Given the description of an element on the screen output the (x, y) to click on. 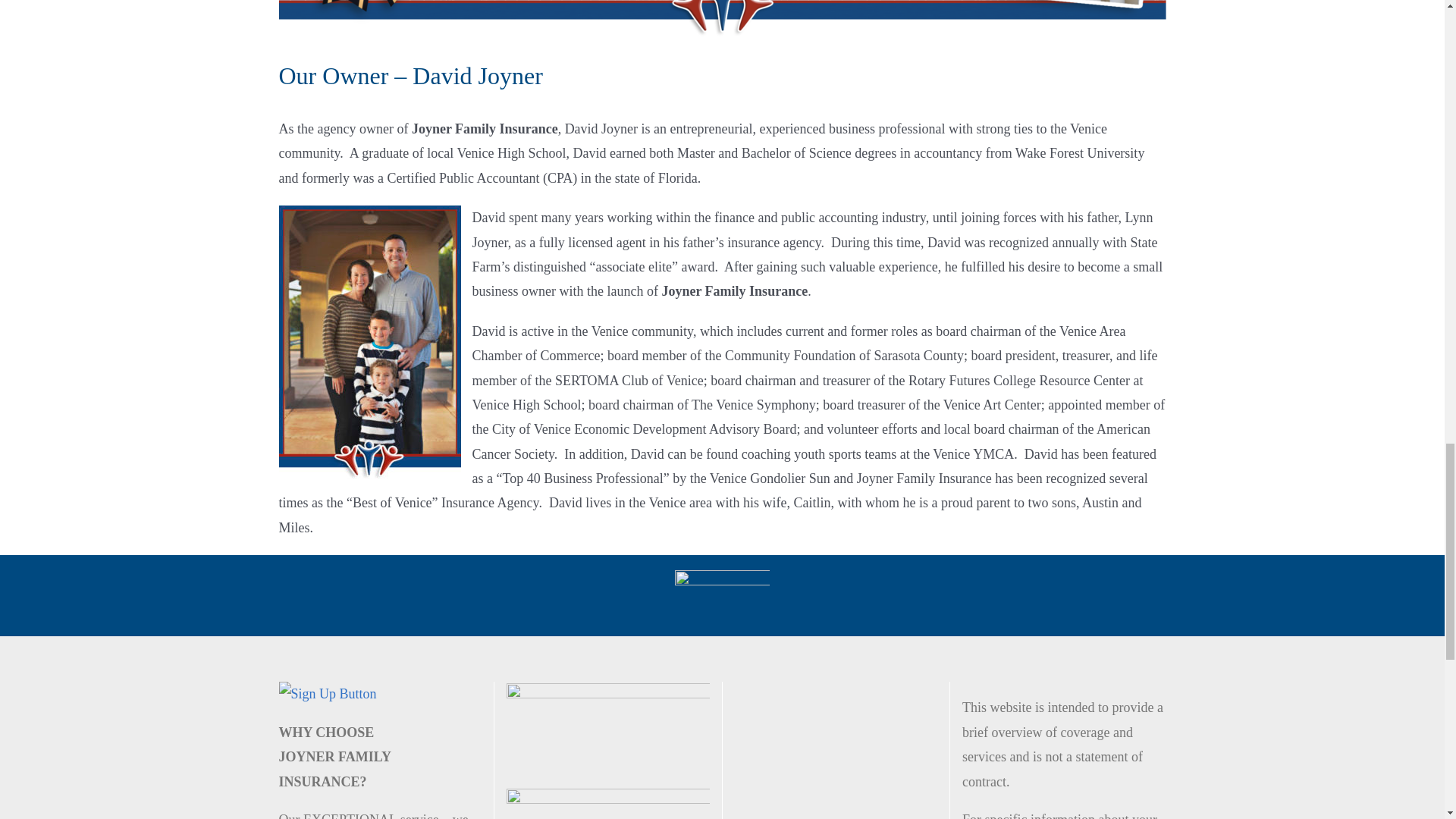
3people (722, 595)
